Given the description of an element on the screen output the (x, y) to click on. 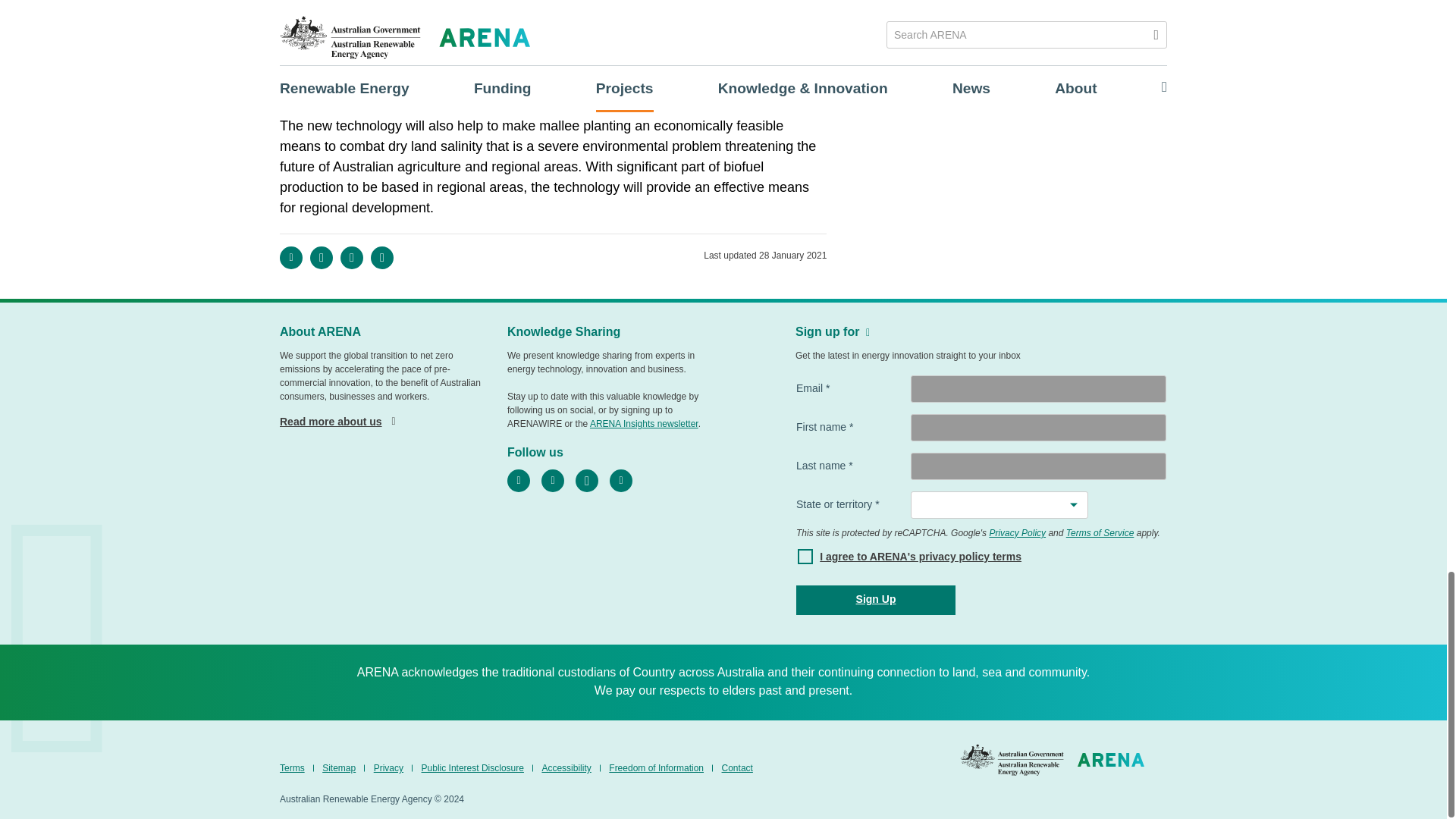
Sign Up (875, 600)
